Given the description of an element on the screen output the (x, y) to click on. 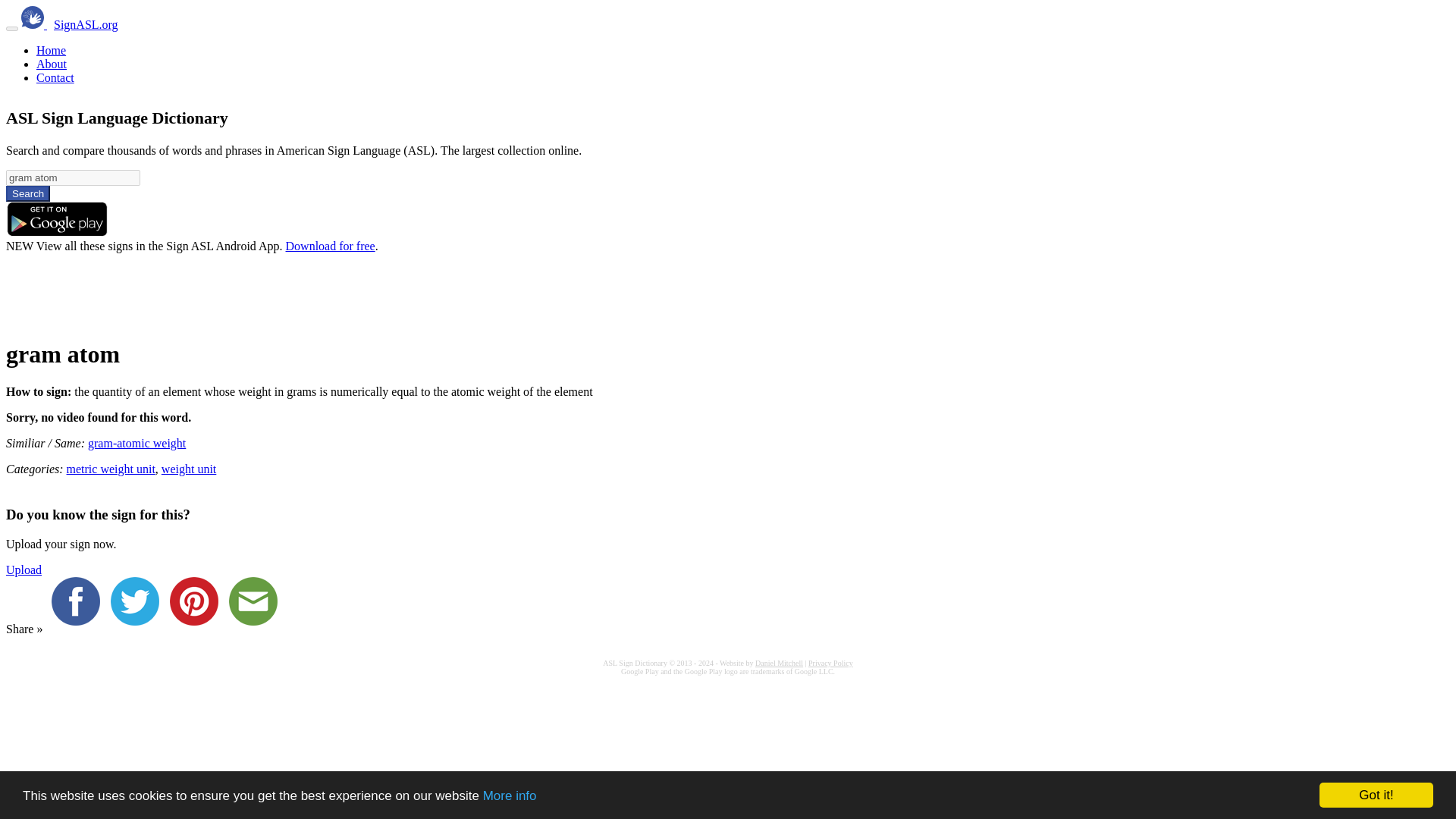
Daniel Mitchell (779, 663)
Contact (55, 77)
Upload (23, 569)
gram-atomic weight (136, 442)
Search (27, 193)
Email (256, 628)
Twitter (138, 628)
gram atom (72, 177)
Download for free (330, 245)
Facebook (78, 628)
Privacy Policy (830, 663)
About (51, 63)
Pininterest (197, 628)
metric weight unit (110, 468)
SignASL.org (85, 24)
